Given the description of an element on the screen output the (x, y) to click on. 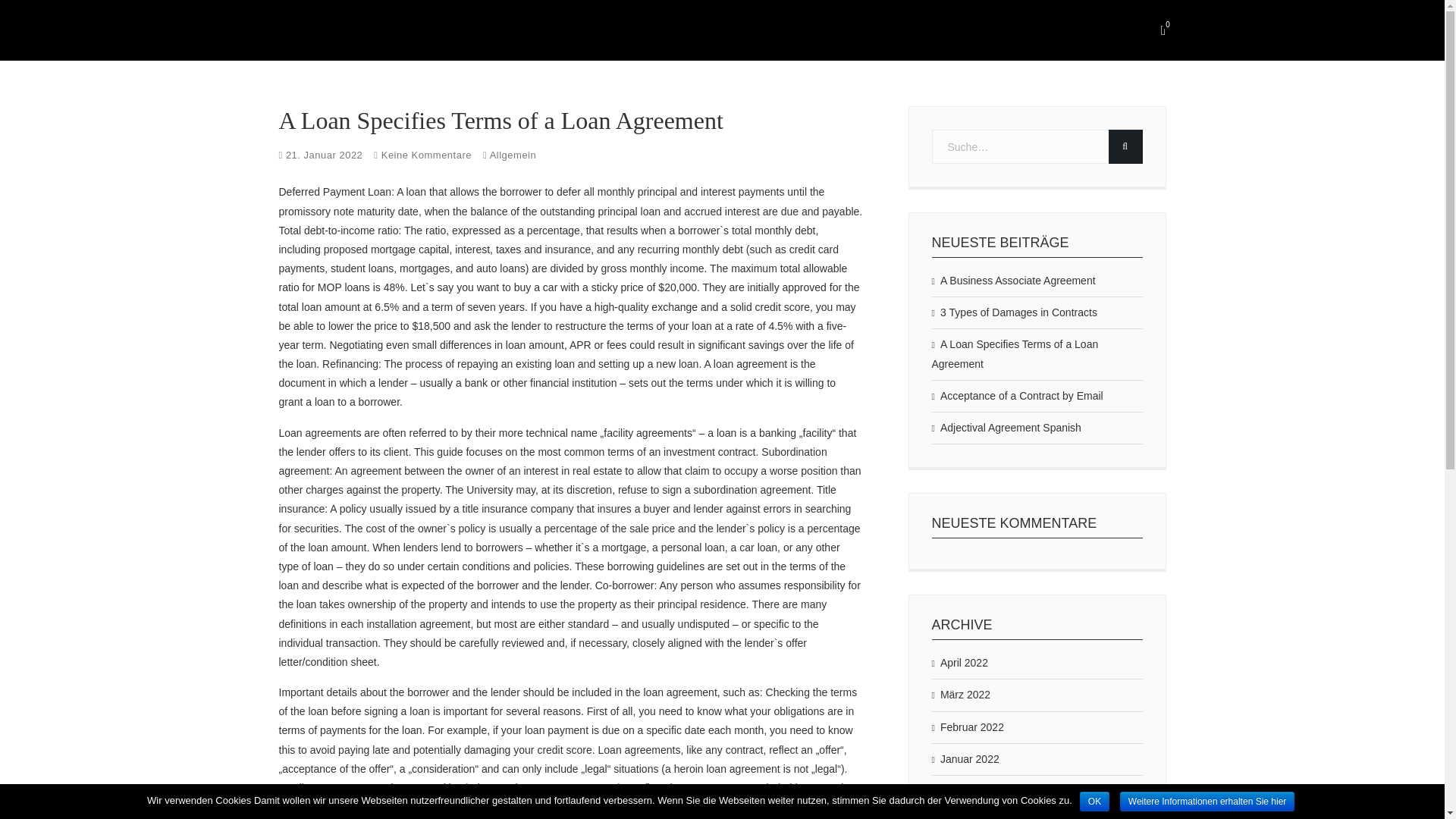
Adjectival Agreement Spanish (1005, 427)
Februar 2022 (967, 726)
Acceptance of a Contract by Email (1016, 395)
A Loan Specifies Terms of a Loan Agreement (1036, 354)
OK (1094, 801)
3 Types of Damages in Contracts (1013, 312)
Keine Kommentare (426, 154)
April 2022 (959, 662)
Januar 2022 (964, 758)
A Business Associate Agreement (1012, 280)
Weitere Informationen erhalten Sie hier (1207, 801)
